Given the description of an element on the screen output the (x, y) to click on. 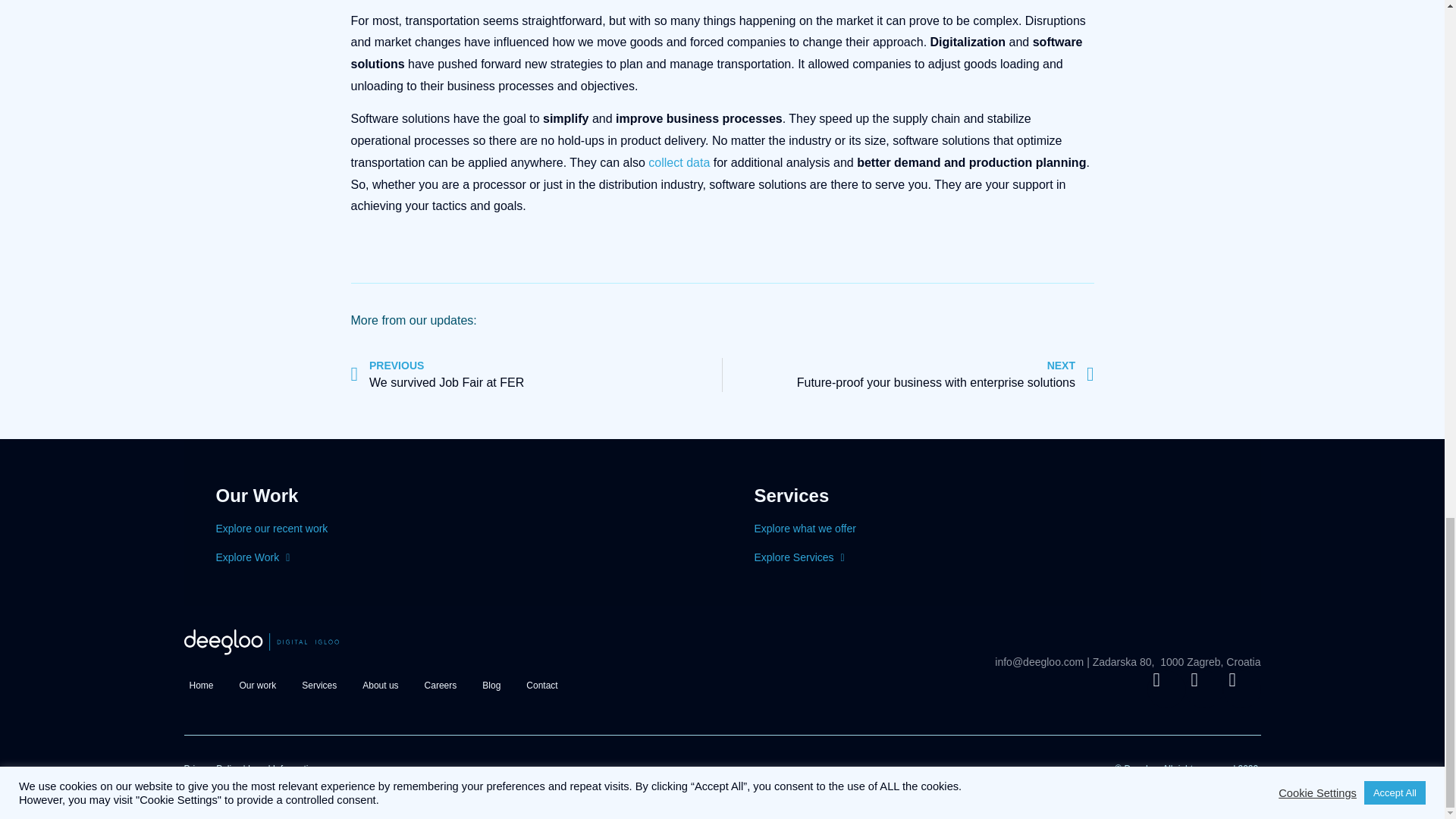
About us (379, 685)
Careers (441, 685)
Services (536, 374)
Our work (319, 685)
Contact (258, 685)
Explore Services (908, 374)
collect data (541, 685)
Explore Work (799, 557)
